Given the description of an element on the screen output the (x, y) to click on. 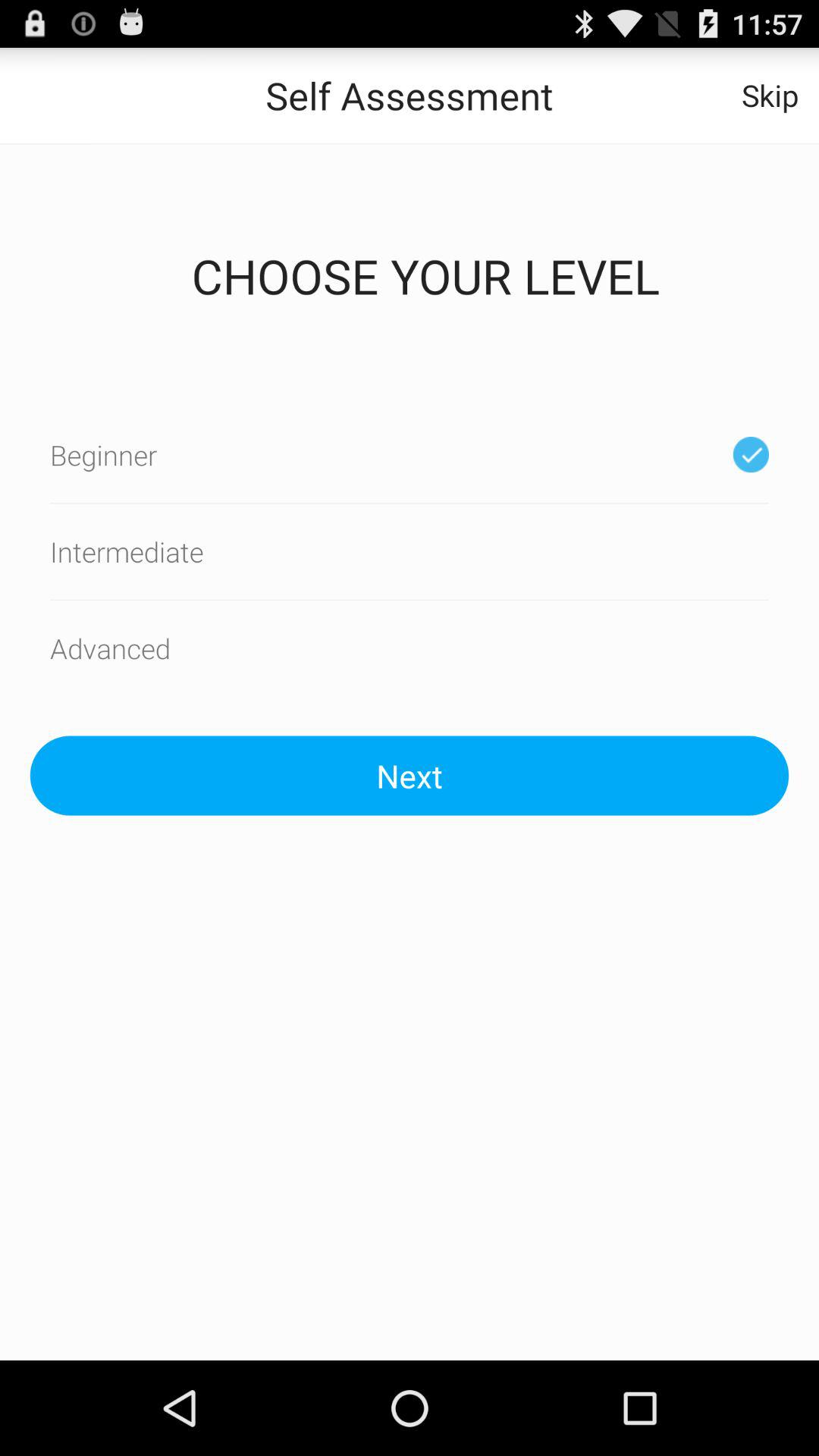
tap item below advanced (409, 775)
